Given the description of an element on the screen output the (x, y) to click on. 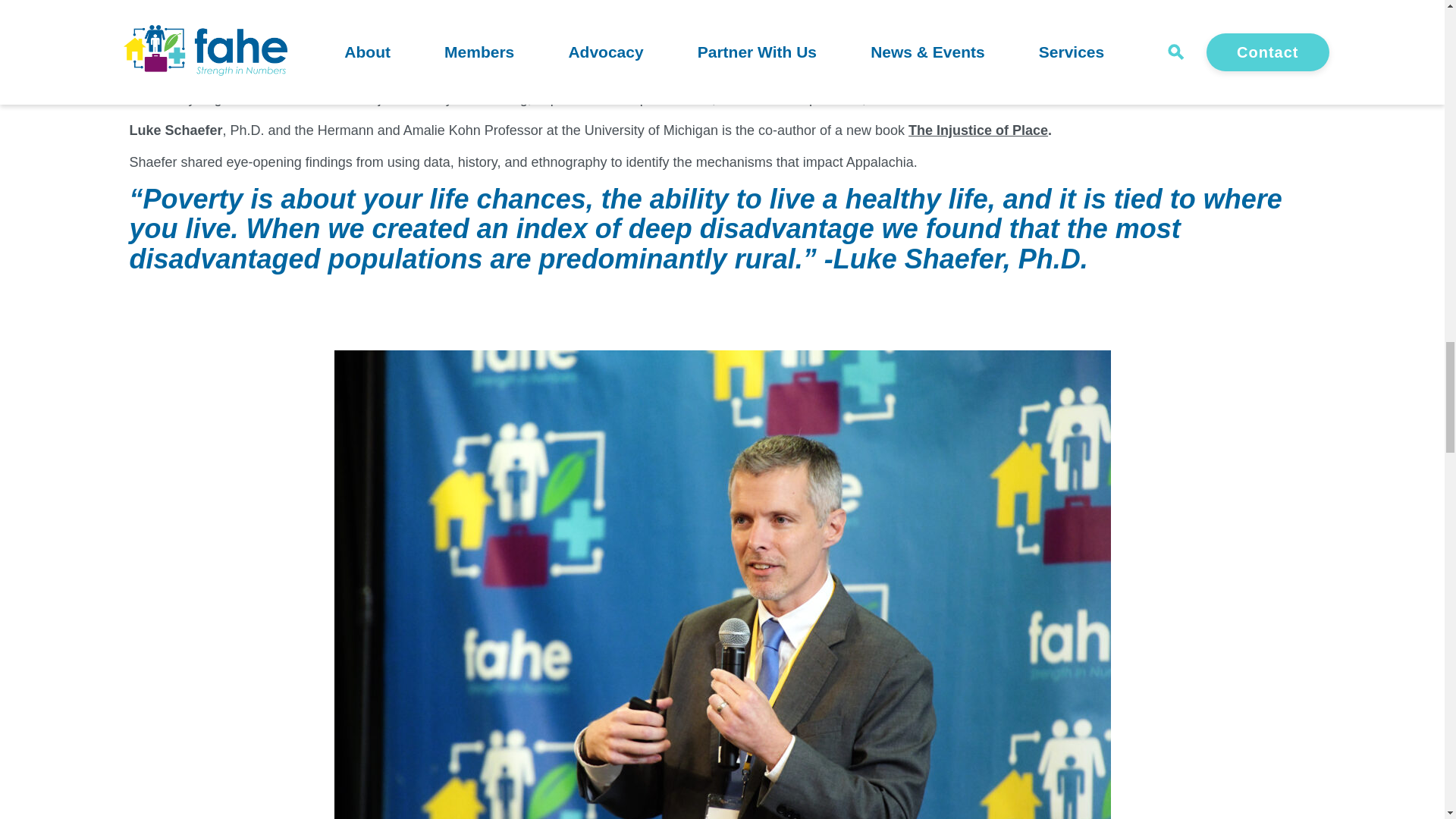
The Injustice of Place (978, 130)
